Given the description of an element on the screen output the (x, y) to click on. 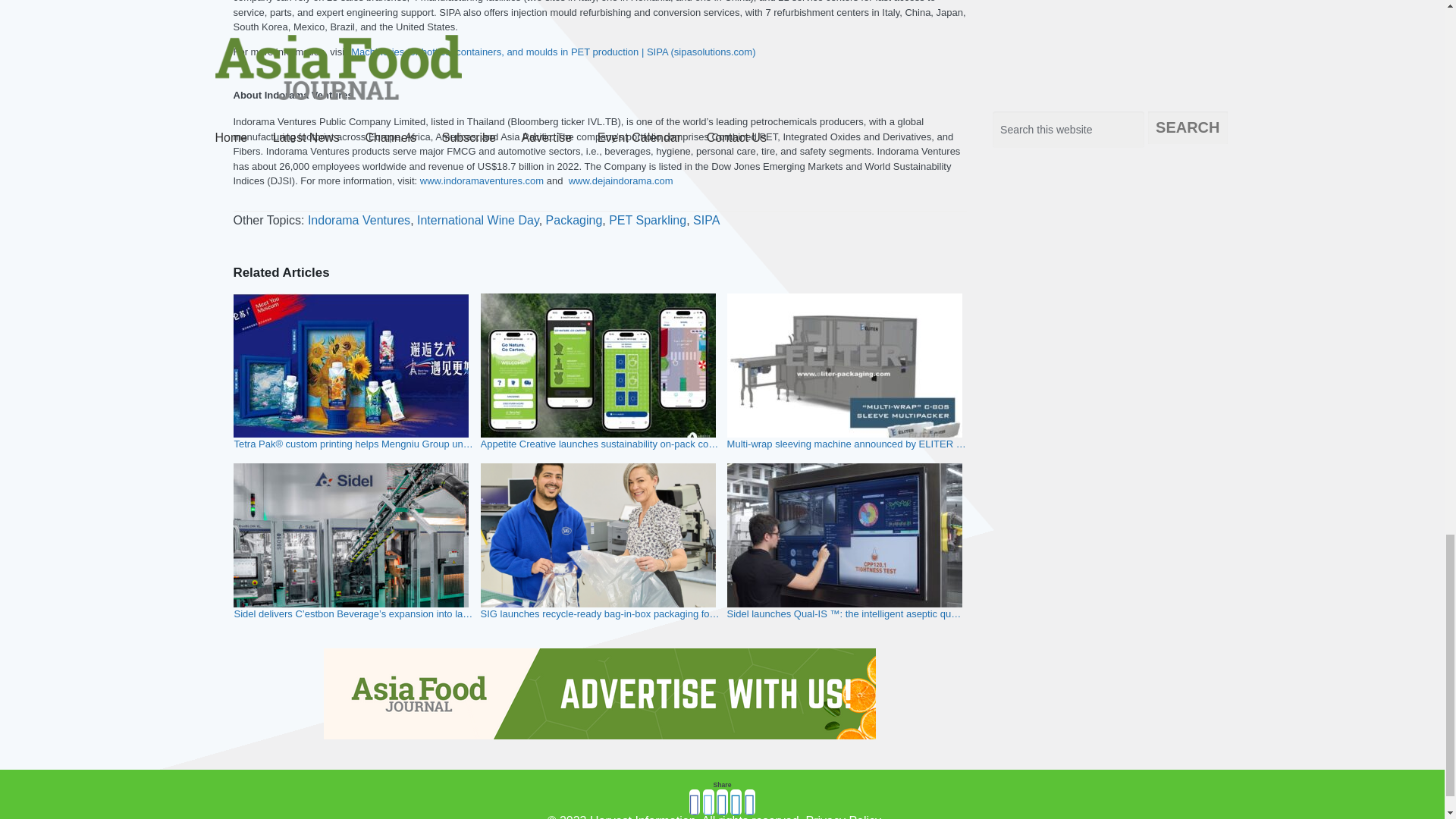
PET Sparkling (646, 219)
www.indoramaventures.com (479, 180)
Indorama Ventures (358, 219)
 www.dejaindorama.com (619, 180)
Packaging (574, 219)
International Wine Day (477, 219)
SIPA (706, 219)
